Given the description of an element on the screen output the (x, y) to click on. 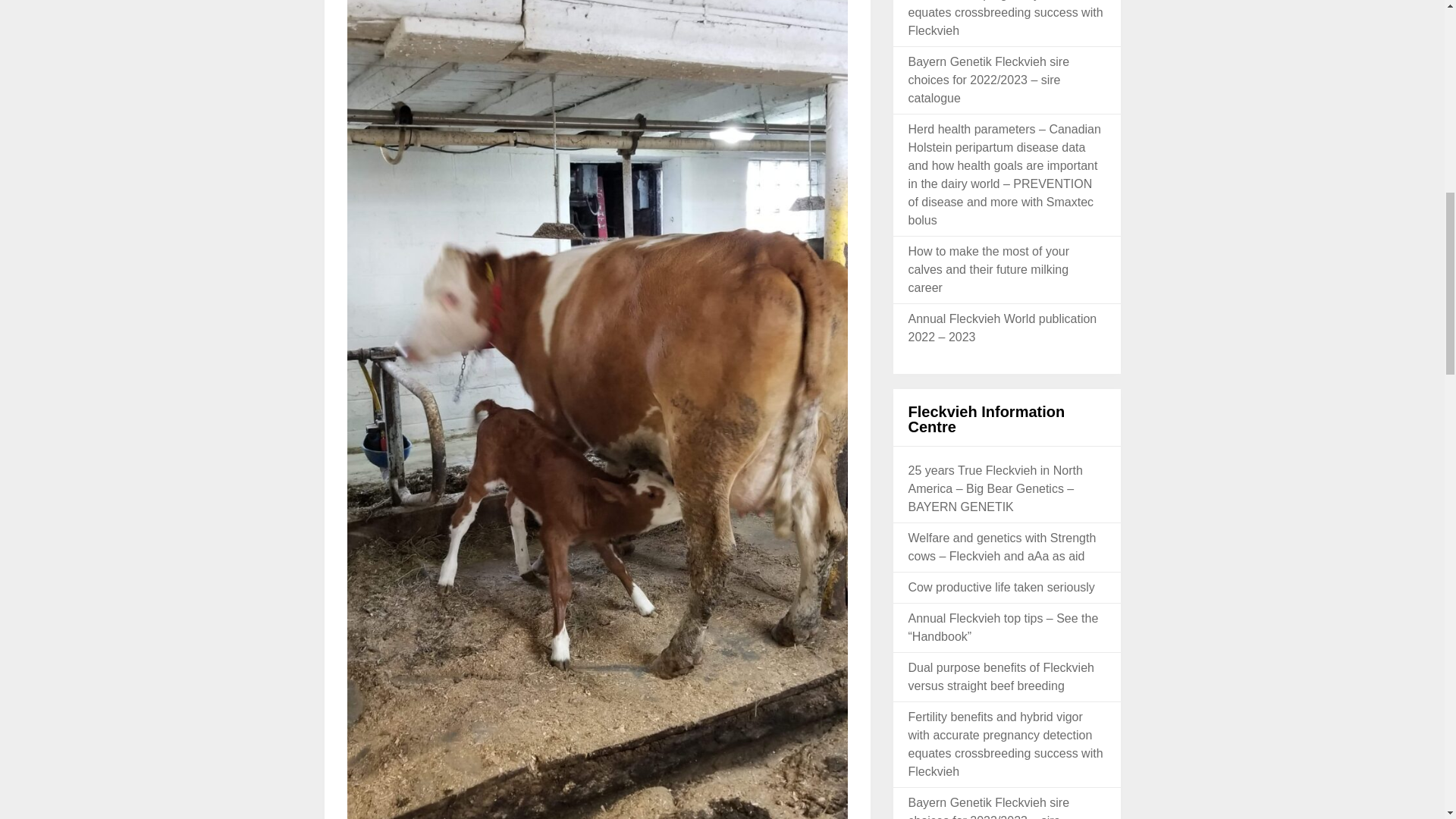
Cow productive life taken seriously (1001, 586)
